Given the description of an element on the screen output the (x, y) to click on. 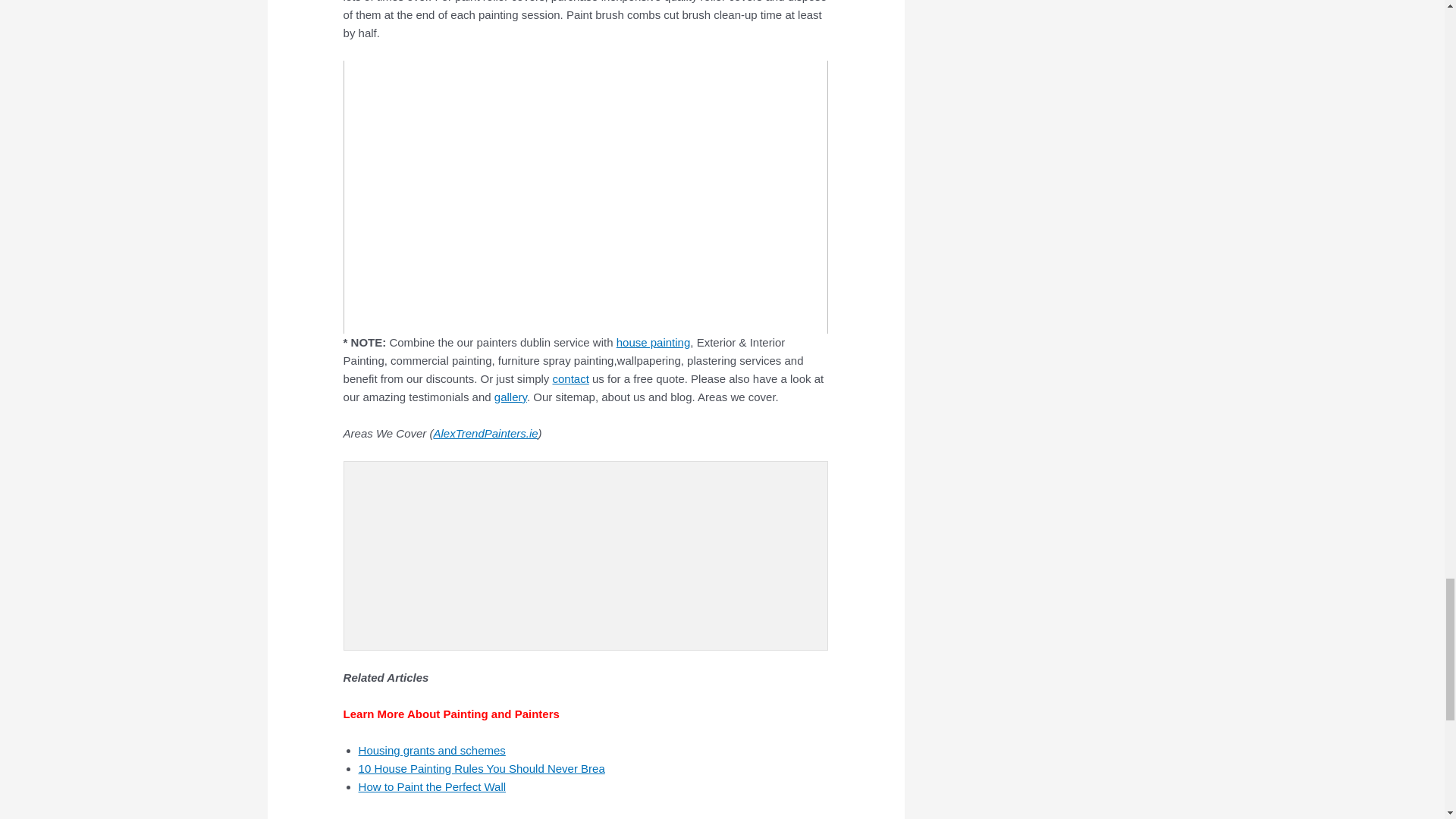
AlexTrendPainters.ie (484, 432)
house painting (652, 341)
gallery (511, 396)
contact (569, 378)
